Given the description of an element on the screen output the (x, y) to click on. 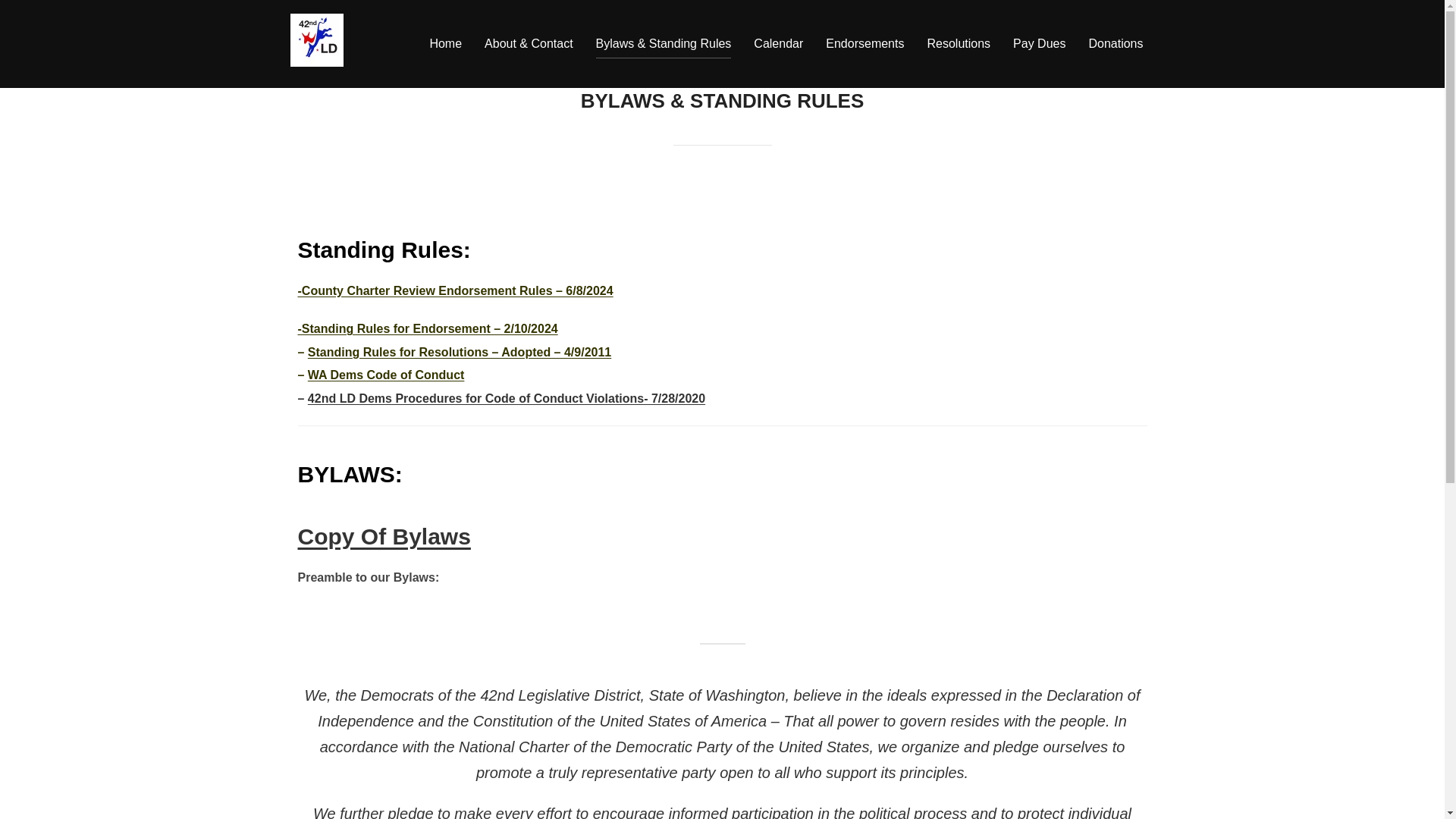
Pay Dues (1039, 43)
Calendar (778, 43)
Home (445, 43)
WA Dems Code of Conduct (385, 374)
Copy Of Bylaws (383, 536)
Endorsements (864, 43)
Resolutions (459, 351)
Resolutions (958, 43)
Donations (1114, 43)
